Given the description of an element on the screen output the (x, y) to click on. 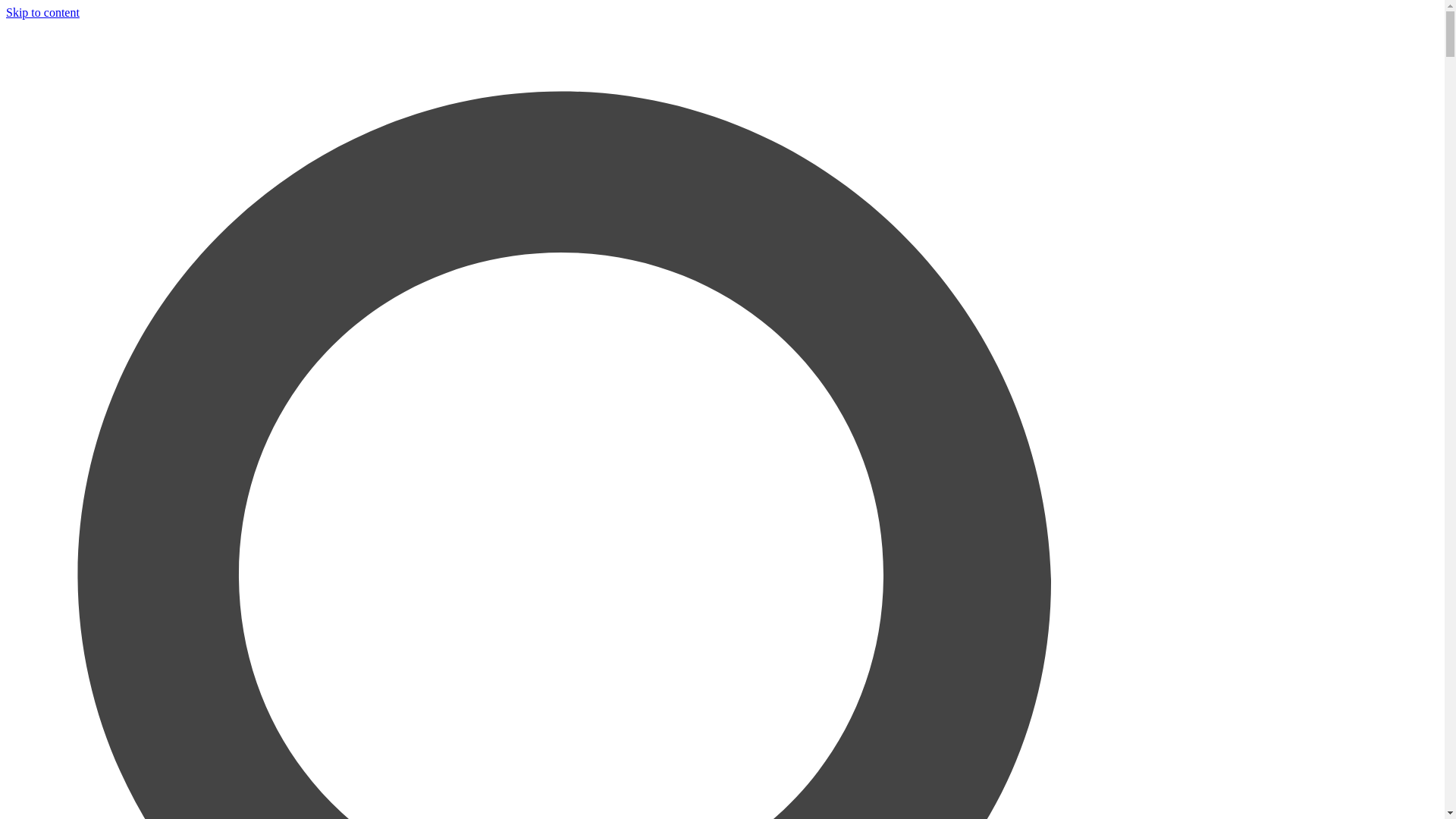
Skip to content Element type: text (42, 12)
